Given the description of an element on the screen output the (x, y) to click on. 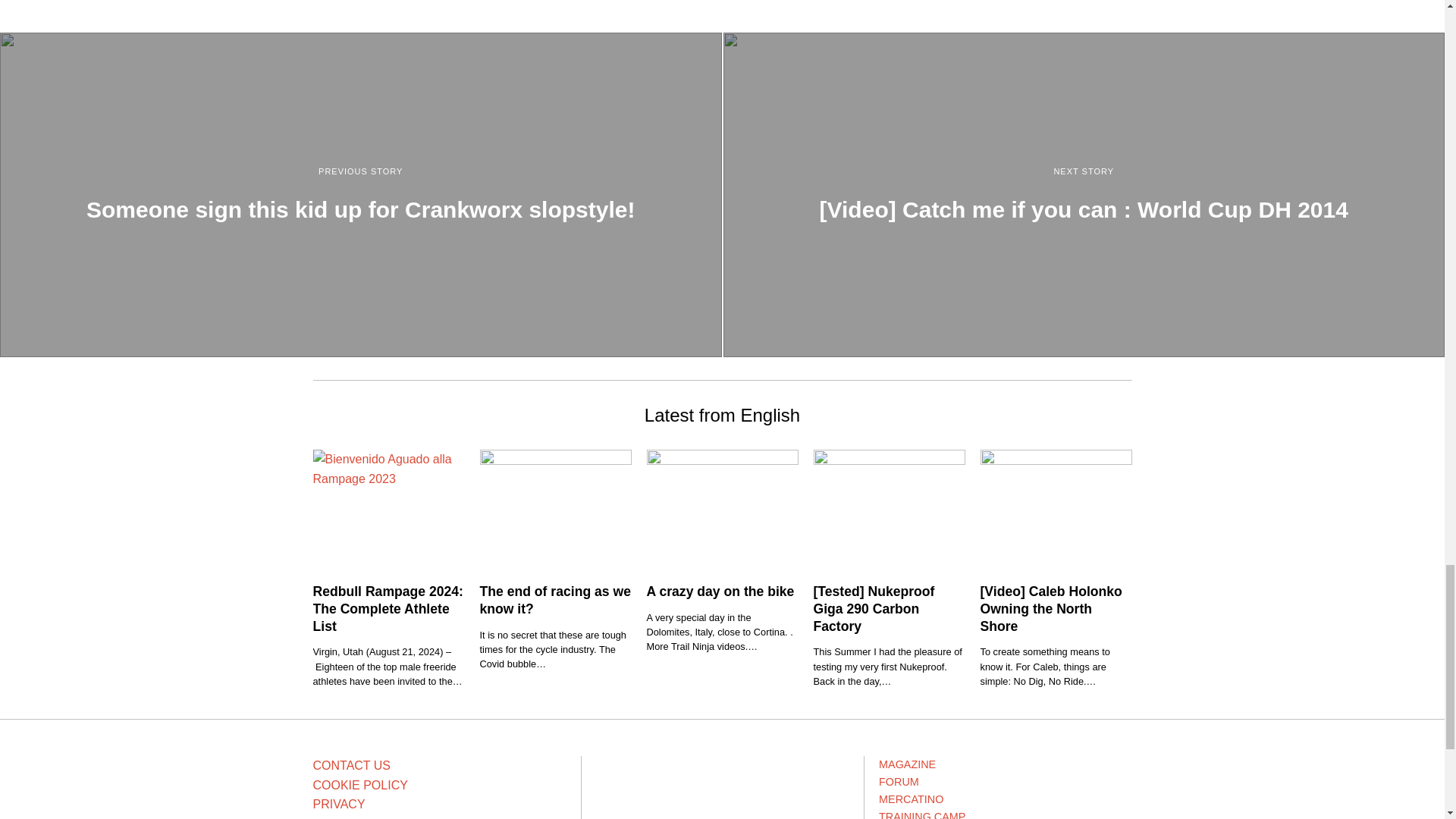
The end of racing as we know it? (554, 599)
A crazy day on the bike (719, 590)
Redbull Rampage 2024: The Complete Athlete List (388, 608)
